Given the description of an element on the screen output the (x, y) to click on. 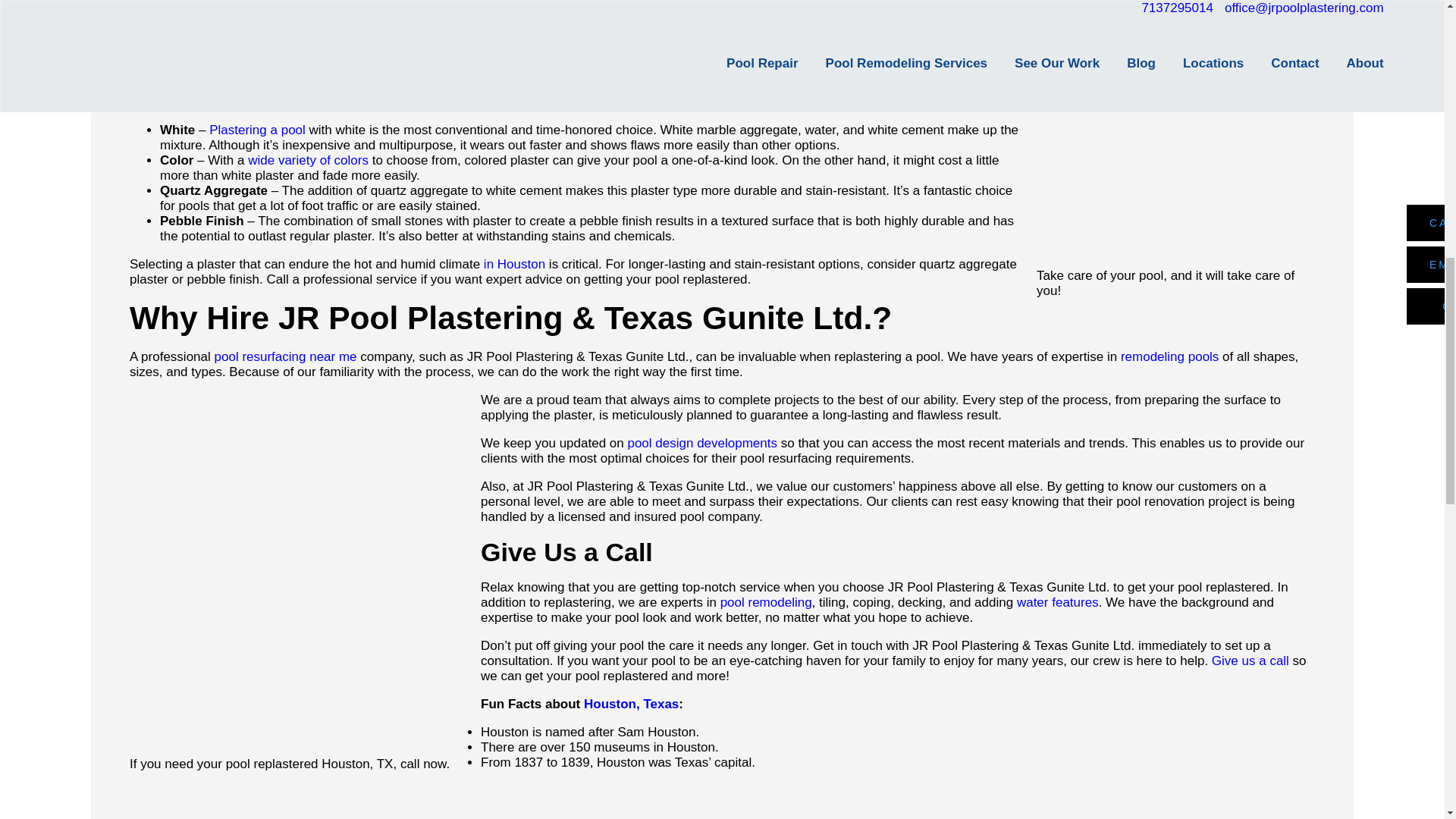
in Houston (513, 264)
Plastering a pool (257, 129)
swimming pool replastering (364, 4)
wide variety of colors (307, 160)
